Given the description of an element on the screen output the (x, y) to click on. 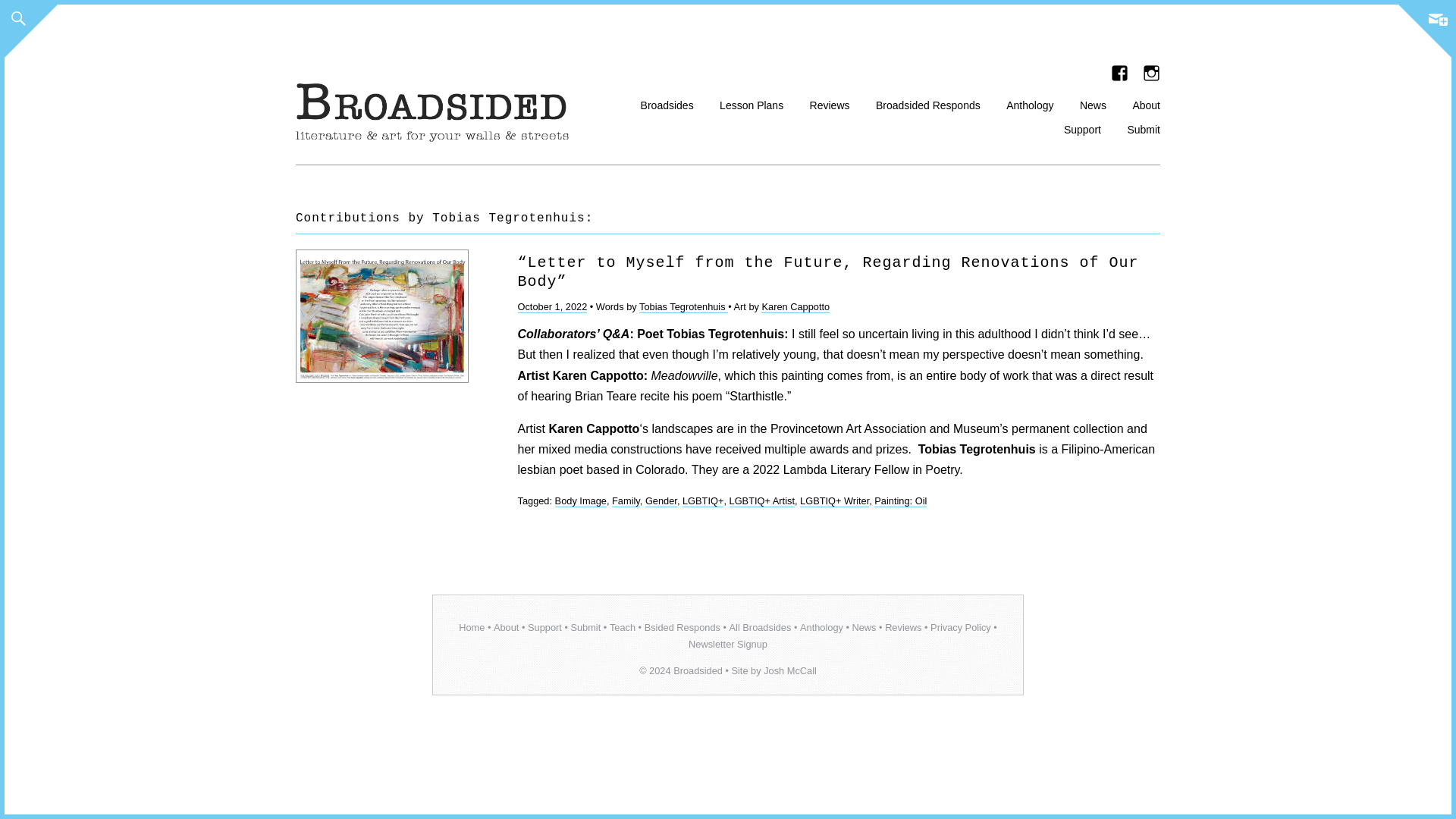
Body Image (580, 500)
Submit (1143, 127)
Gender (661, 500)
Support (544, 627)
Support (1082, 127)
About (1146, 103)
Broadsided Responds (927, 103)
Home (471, 627)
Submit (584, 627)
Family (625, 500)
October 1, 2022 (551, 306)
Lesson Plans (751, 103)
Anthology (1029, 103)
Karen Cappotto (795, 306)
Tobias Tegrotenhuis (683, 306)
